Given the description of an element on the screen output the (x, y) to click on. 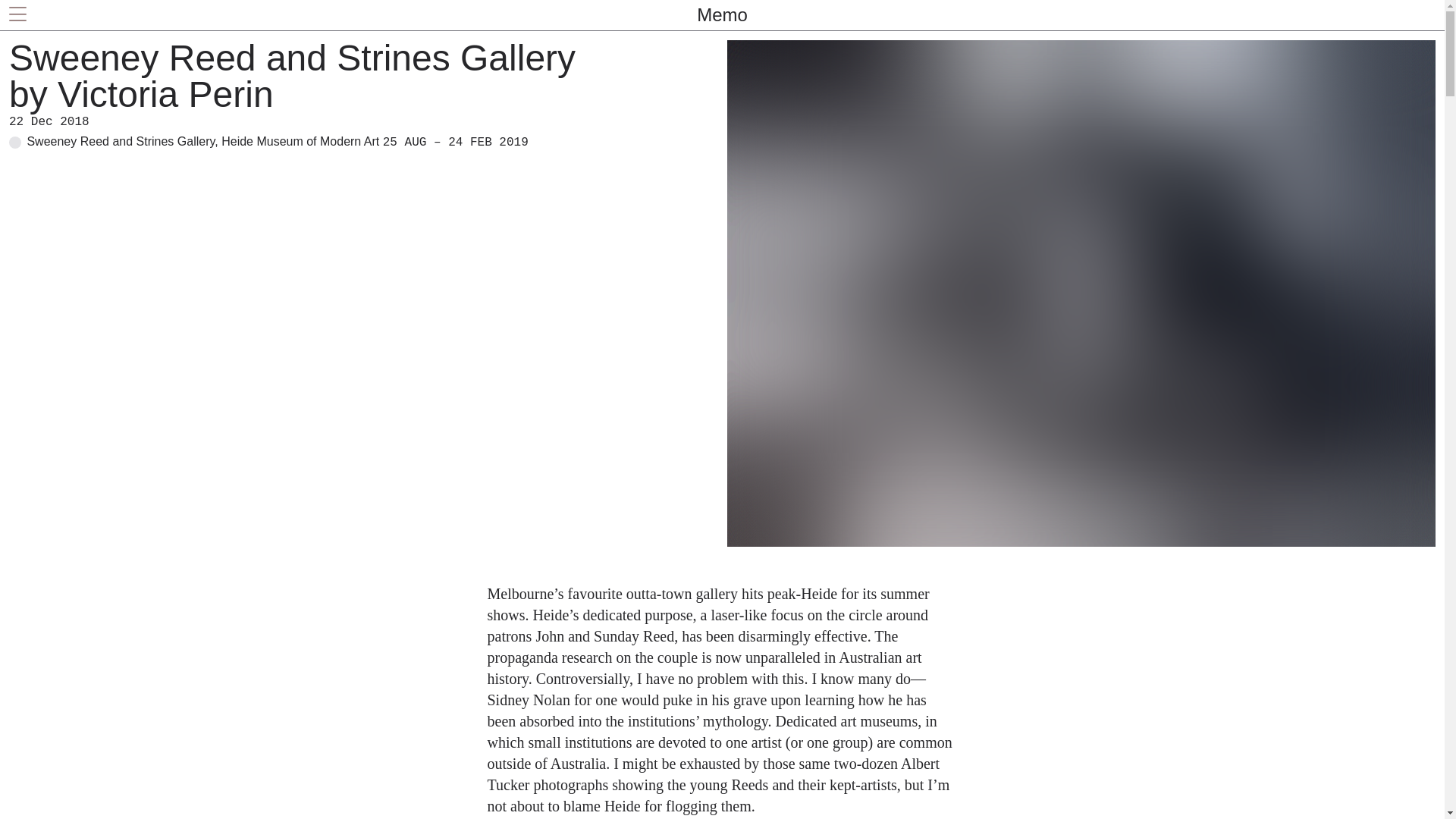
Memo (722, 15)
Victoria Perin (165, 94)
